Given the description of an element on the screen output the (x, y) to click on. 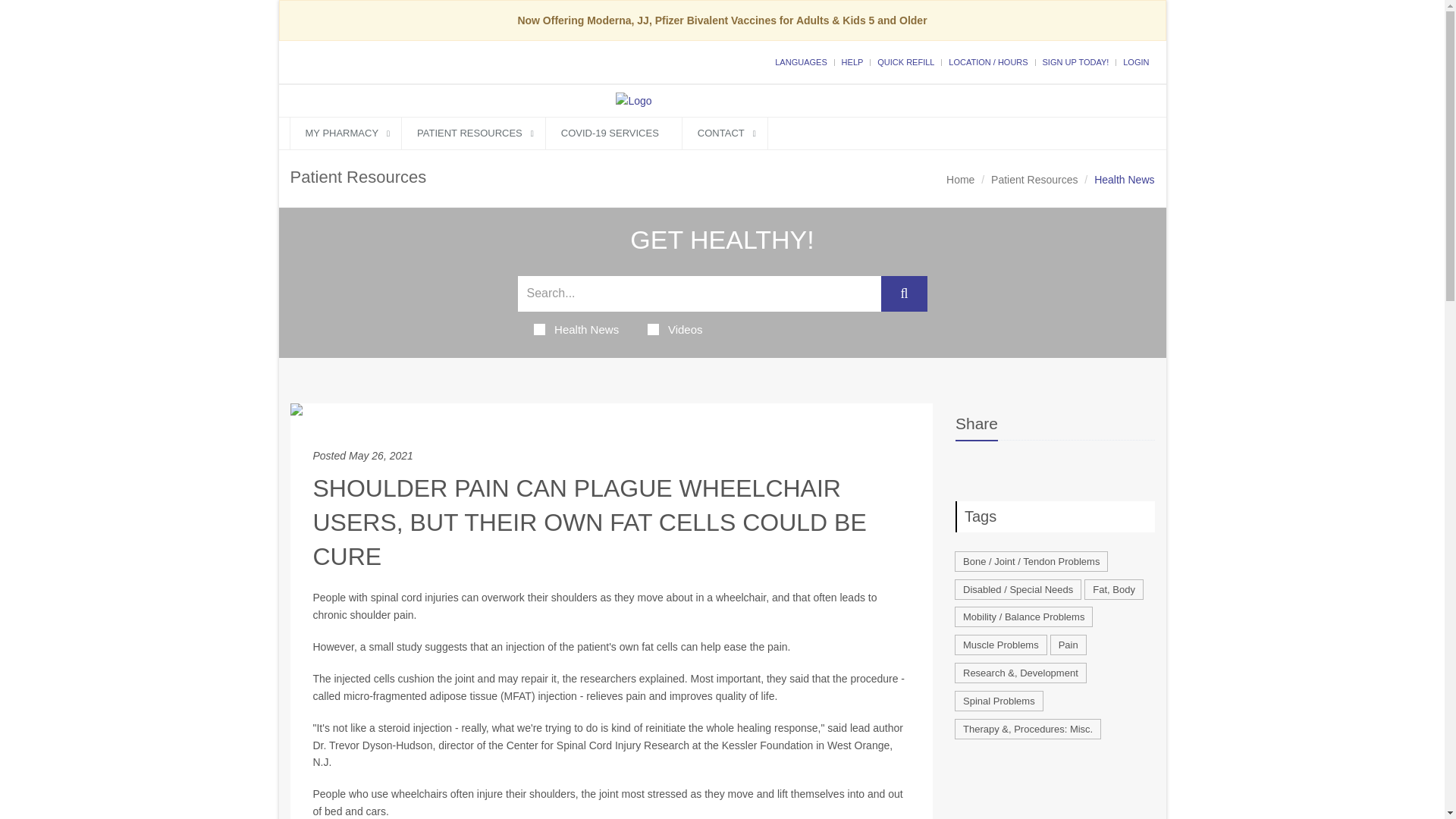
PATIENT RESOURCES (472, 133)
LANGUAGES (800, 61)
MY PHARMACY (345, 133)
HELP (852, 61)
CONTACT (724, 133)
COVID-19 SERVICES (613, 133)
